Given the description of an element on the screen output the (x, y) to click on. 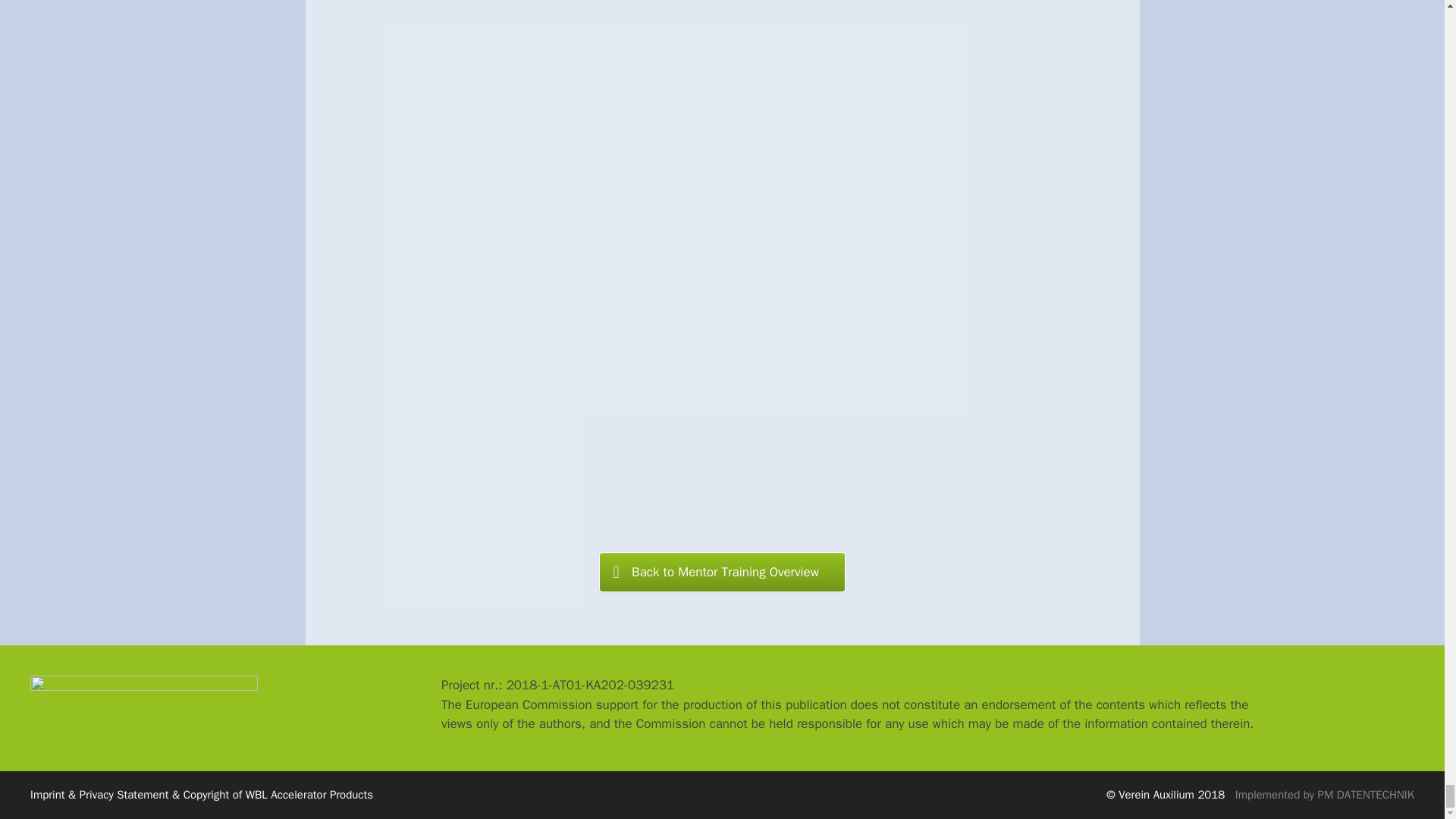
Privacy Statement (124, 794)
Verein Auxilium 2018    (1176, 794)
Implemented by PM DATENTECHNIK (1323, 794)
Back to Mentor Training Overview (721, 572)
Copyright of WBL Accelerator Products (277, 794)
Imprint (47, 794)
